Given the description of an element on the screen output the (x, y) to click on. 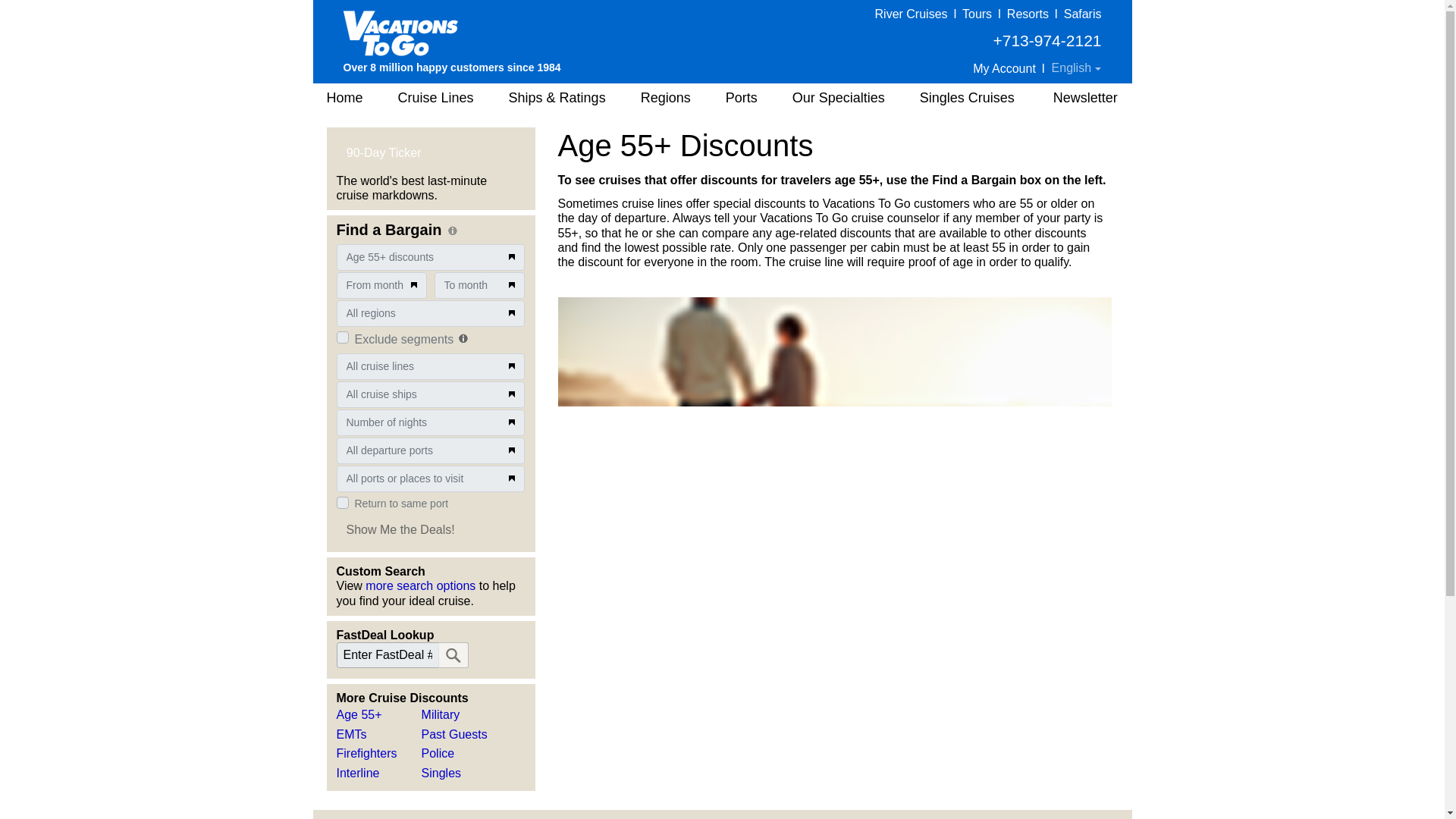
Safaris (1083, 13)
English (1076, 69)
Resorts (1027, 13)
Tours (976, 13)
Show Me the Deals! (400, 529)
My Account (1003, 68)
Home (343, 97)
River Cruises (911, 13)
Cruise Lines (435, 97)
